Given the description of an element on the screen output the (x, y) to click on. 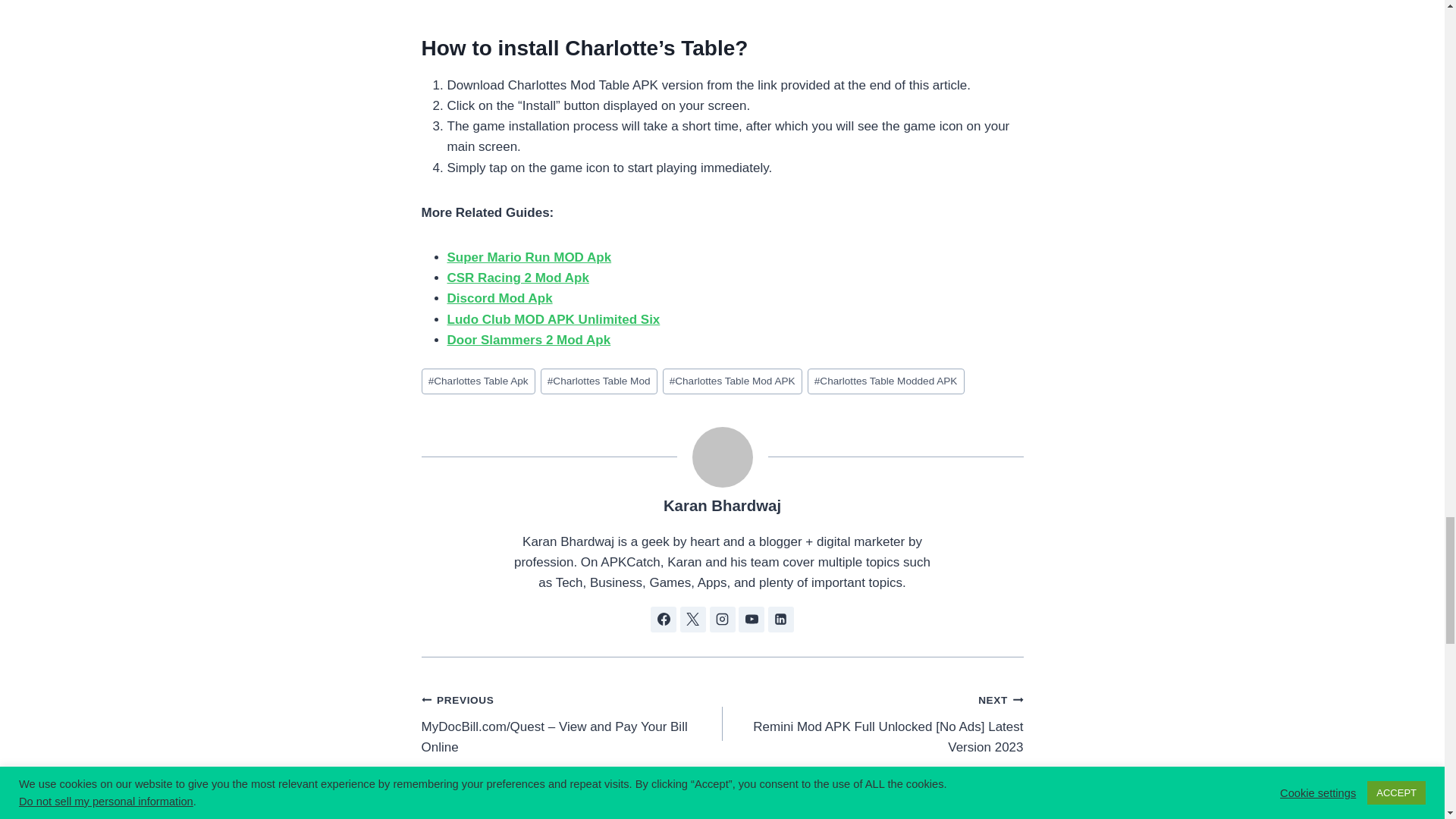
Karan Bhardwaj (721, 505)
Charlottes Table Mod APK (732, 381)
Posts by Karan Bhardwaj (721, 505)
Super Mario Run MOD Apk (528, 257)
Discord Mod Apk (499, 298)
Charlottes Table Mod (599, 381)
Ludo Club MOD APK Unlimited Six (553, 319)
Charlottes Table Apk (478, 381)
Charlottes Table Modded APK (885, 381)
CSR Racing 2 Mod Apk (517, 278)
Door Slammers 2 Mod Apk (528, 339)
